Given the description of an element on the screen output the (x, y) to click on. 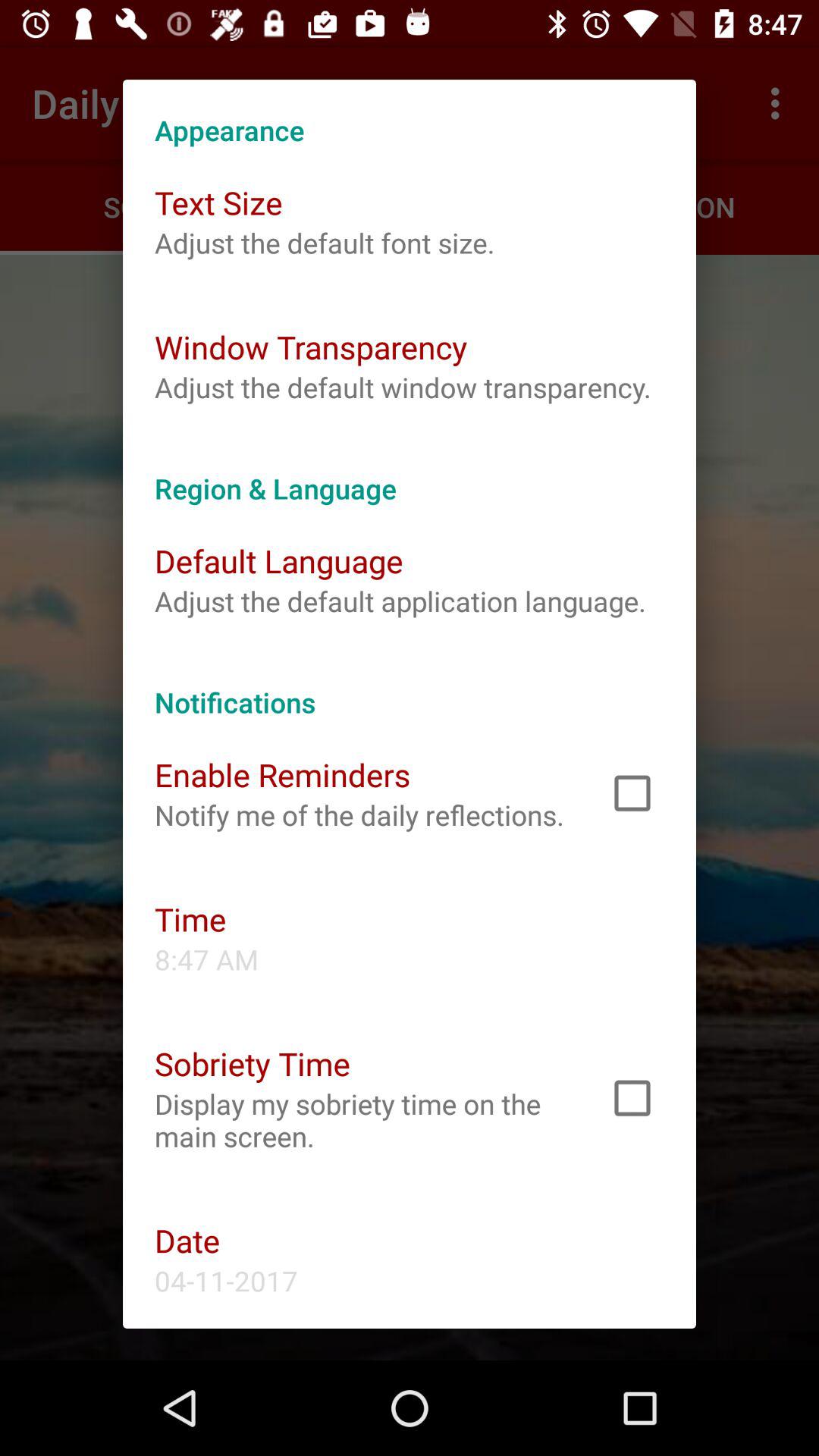
turn off item below time (206, 959)
